Given the description of an element on the screen output the (x, y) to click on. 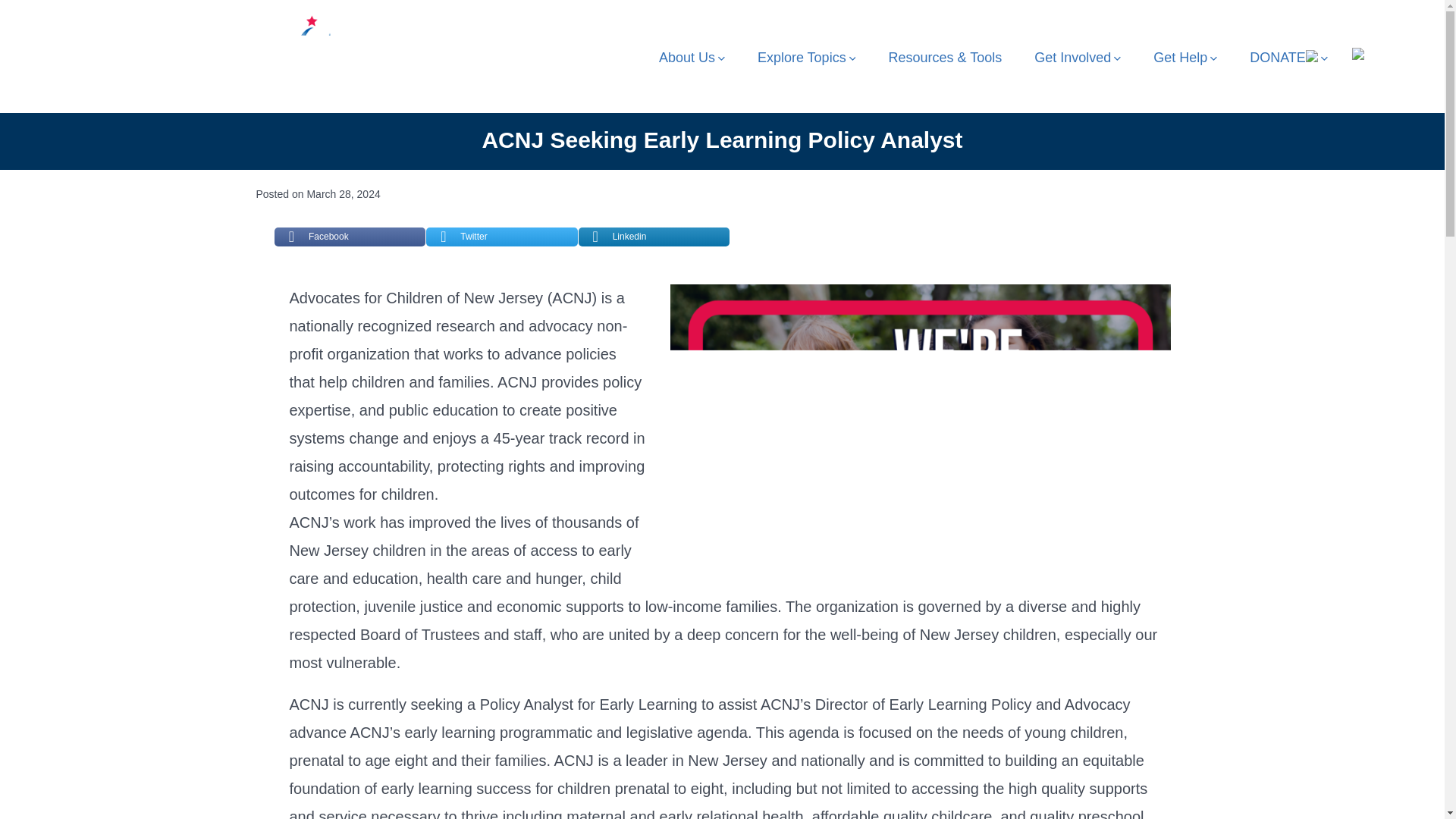
Get Involved (1077, 57)
Explore Topics (806, 57)
Get Help (1185, 57)
About Us (692, 57)
Search Toggle (1362, 62)
DONATE (1287, 57)
